Given the description of an element on the screen output the (x, y) to click on. 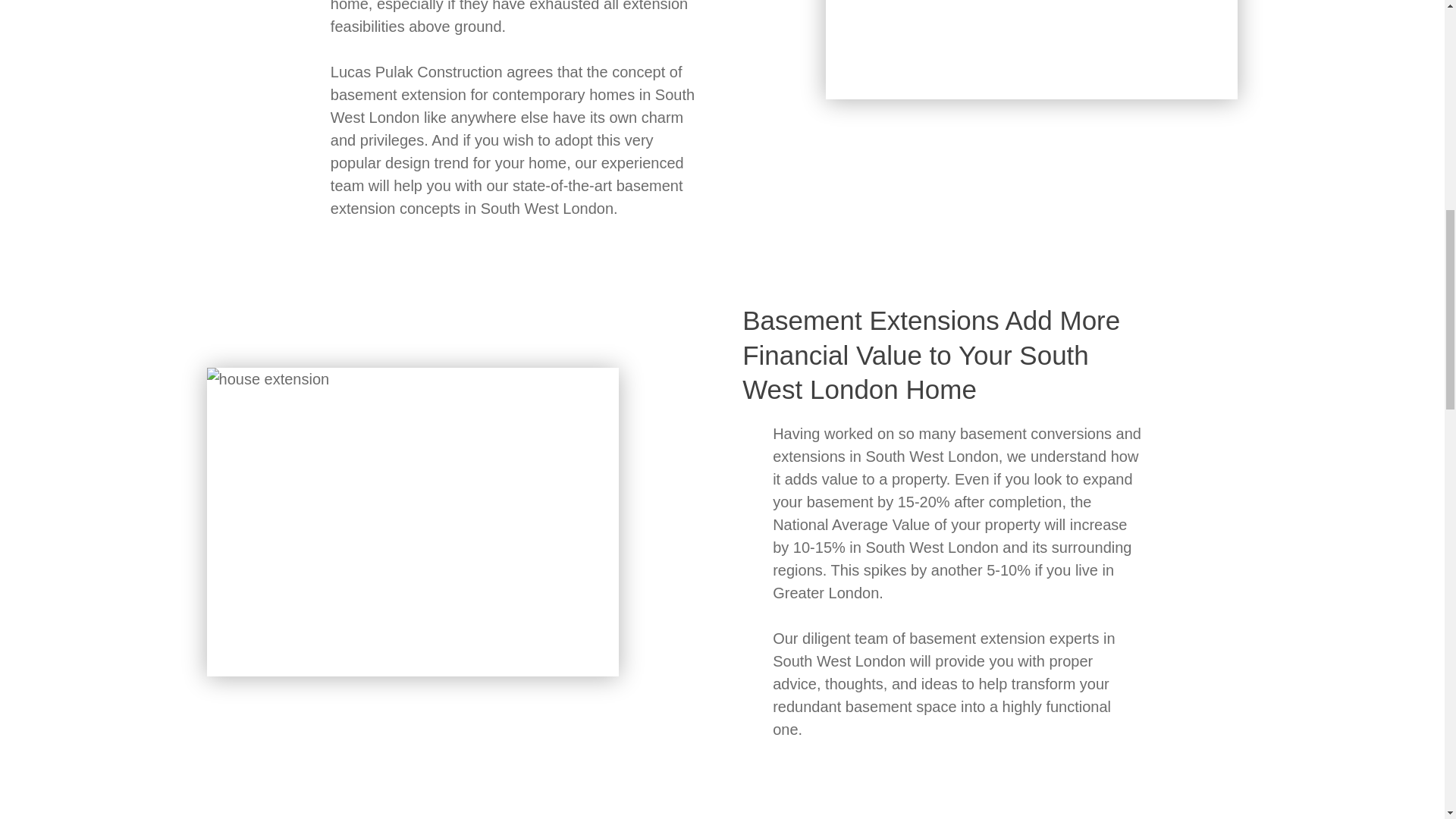
basement extension (397, 94)
